Given the description of an element on the screen output the (x, y) to click on. 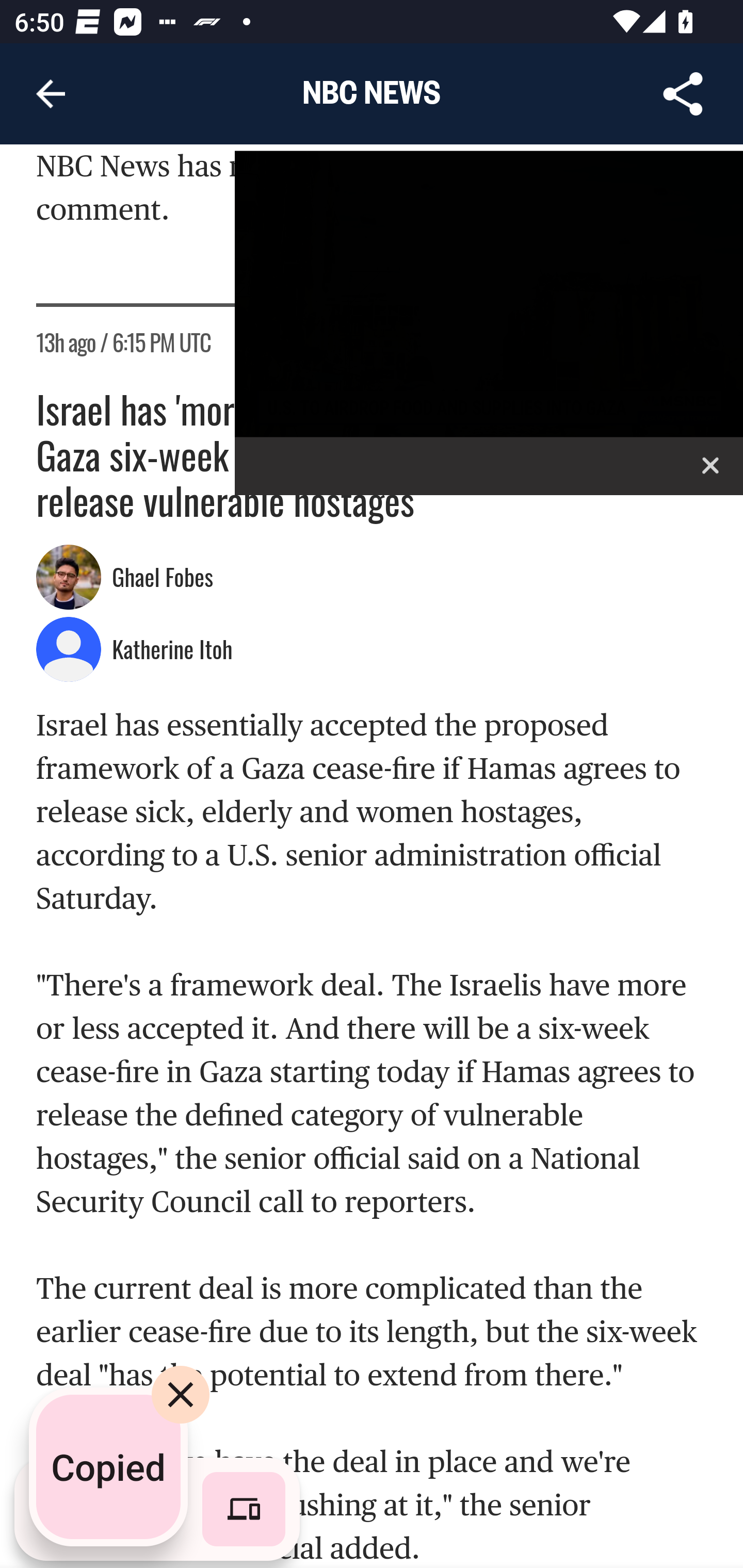
Navigate up (50, 93)
Share Article, button (683, 94)
ghael-fobes-ncpn1300094 (69, 578)
Ghael Fobes (165, 578)
